Given the description of an element on the screen output the (x, y) to click on. 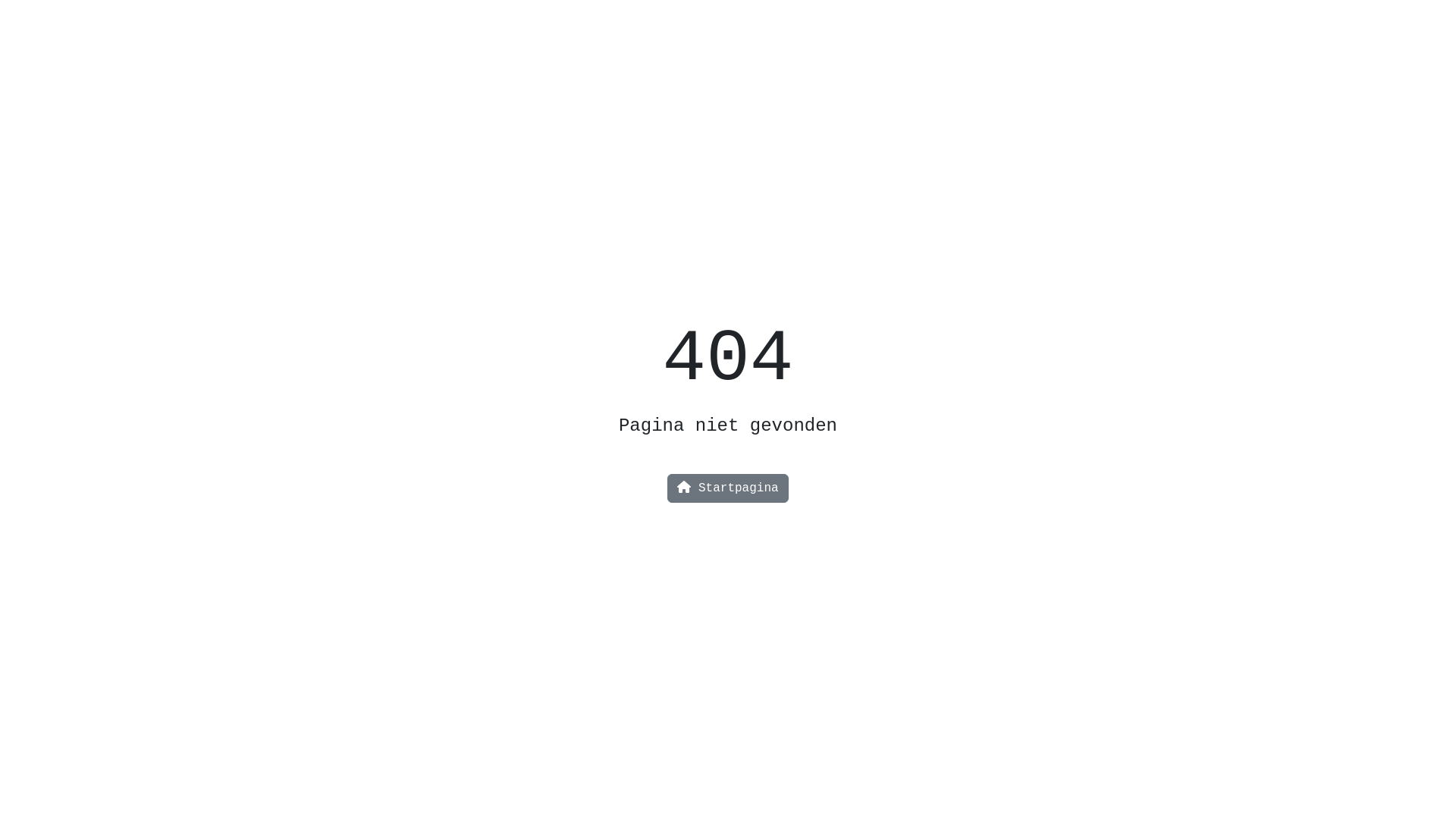
Startpagina Element type: text (727, 487)
